Given the description of an element on the screen output the (x, y) to click on. 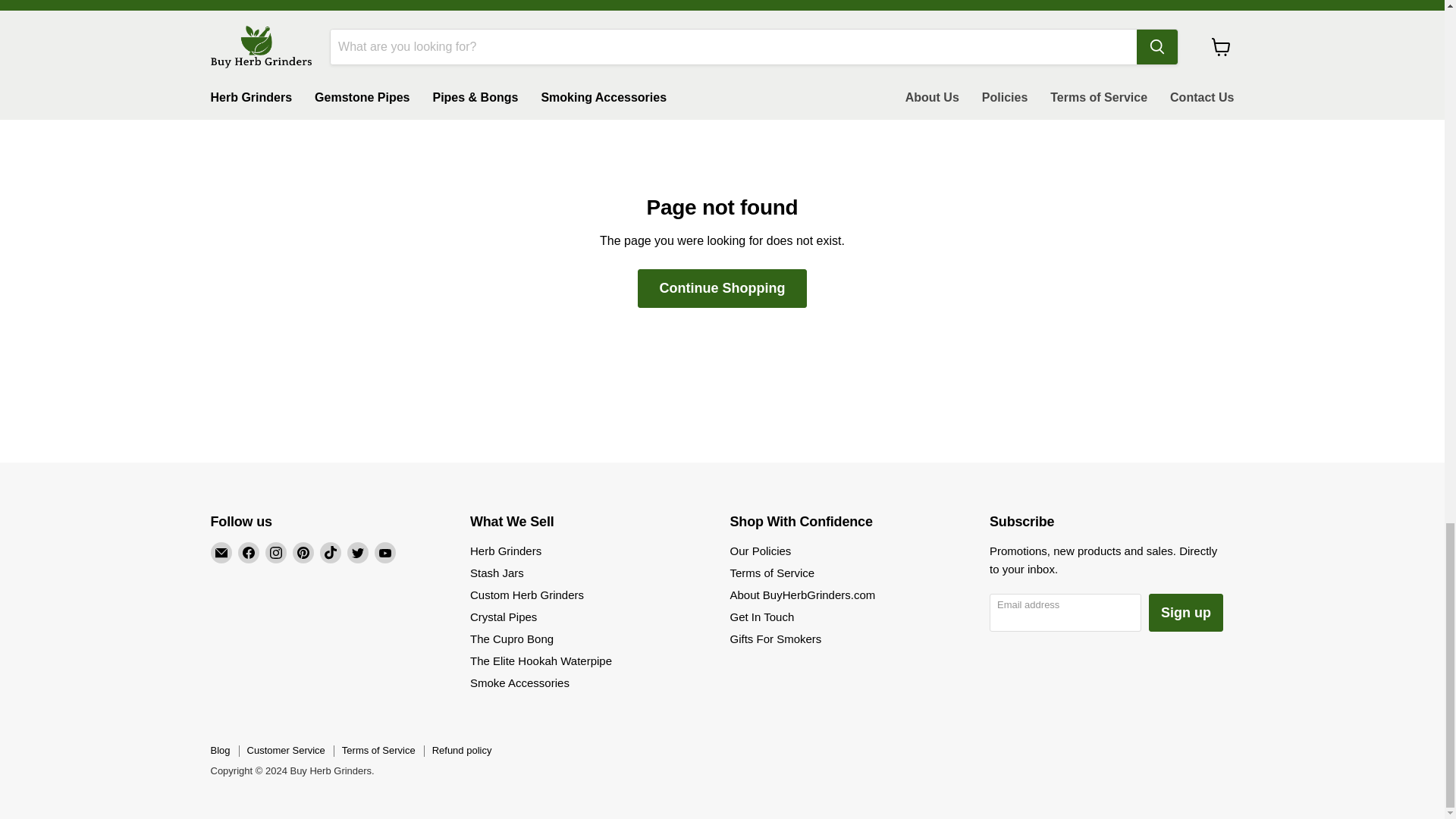
Gemstone Pipes (361, 97)
TikTok (330, 552)
Find us on YouTube (385, 552)
Pinterest (303, 552)
About Us (932, 97)
View cart (1221, 46)
The Cupro Bong (511, 638)
Facebook (248, 552)
Policies (1005, 97)
Herb Grinders (505, 550)
